Given the description of an element on the screen output the (x, y) to click on. 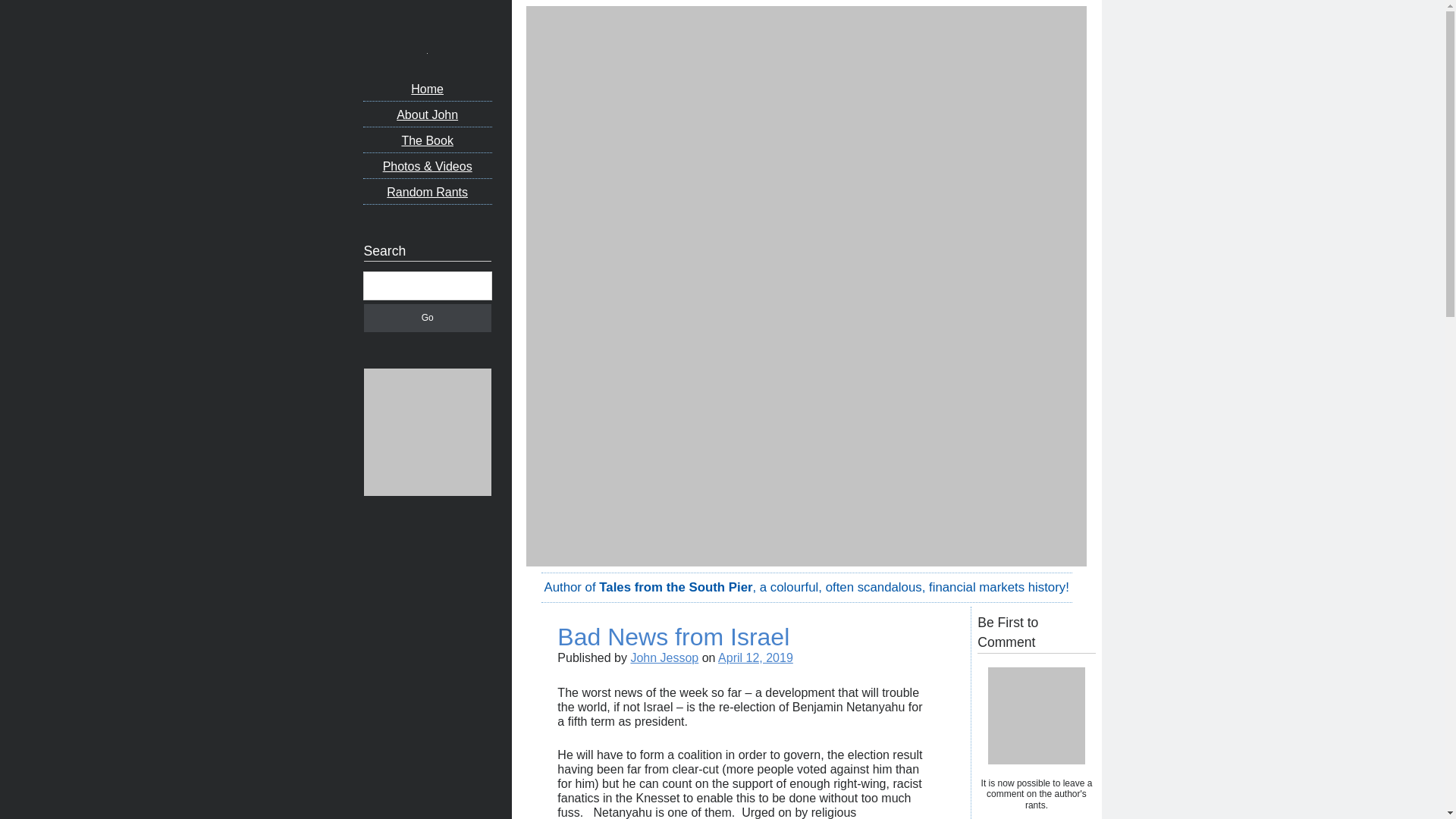
Random Rants (427, 193)
The Book (427, 142)
Go (428, 317)
April 12, 2019 (755, 657)
John Jessop (664, 657)
About John (427, 116)
Search for: (428, 285)
Go (428, 317)
Home (427, 90)
Go (428, 317)
